Given the description of an element on the screen output the (x, y) to click on. 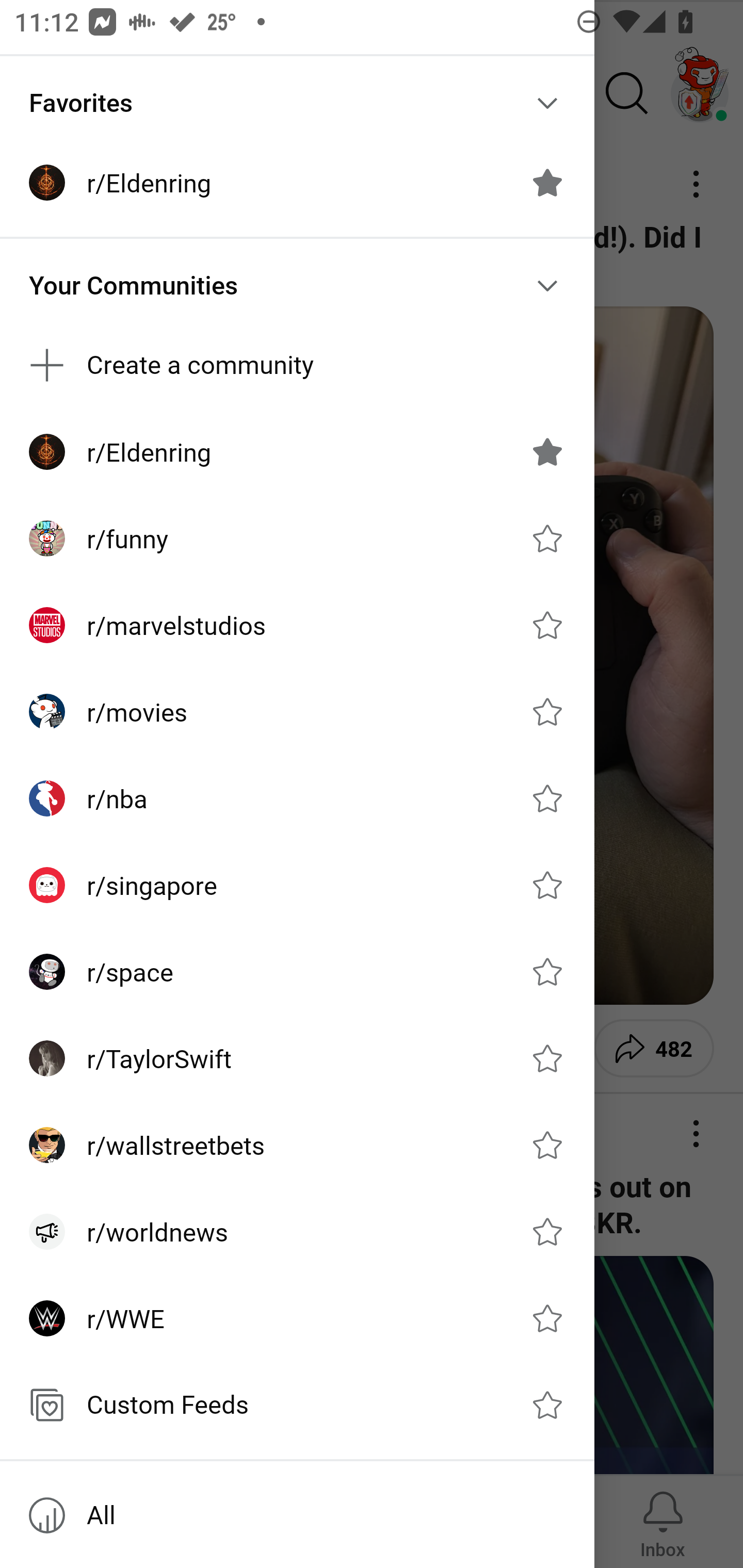
Favorites (297, 103)
r/Eldenring Unfavorite r/Eldenring (297, 182)
Unfavorite r/Eldenring (546, 182)
Your Communities (297, 285)
Create a community (297, 365)
r/Eldenring Unfavorite r/Eldenring (297, 452)
Unfavorite r/Eldenring (546, 451)
r/funny Favorite r/funny (297, 538)
Favorite r/funny (546, 538)
r/marvelstudios Favorite r/marvelstudios (297, 624)
Favorite r/marvelstudios (546, 624)
r/movies Favorite r/movies (297, 711)
Favorite r/movies (546, 711)
r/nba Favorite r/nba (297, 798)
Favorite r/nba (546, 798)
r/singapore Favorite r/singapore (297, 885)
Favorite r/singapore (546, 885)
r/space Favorite r/space (297, 971)
Favorite r/space (546, 971)
r/TaylorSwift Favorite r/TaylorSwift (297, 1058)
Favorite r/TaylorSwift (546, 1058)
r/wallstreetbets Favorite r/wallstreetbets (297, 1145)
Favorite r/wallstreetbets (546, 1145)
r/worldnews Favorite r/worldnews (297, 1231)
Favorite r/worldnews (546, 1231)
r/WWE Favorite r/WWE (297, 1317)
Favorite r/WWE (546, 1317)
Custom Feeds (297, 1404)
All (297, 1515)
